Given the description of an element on the screen output the (x, y) to click on. 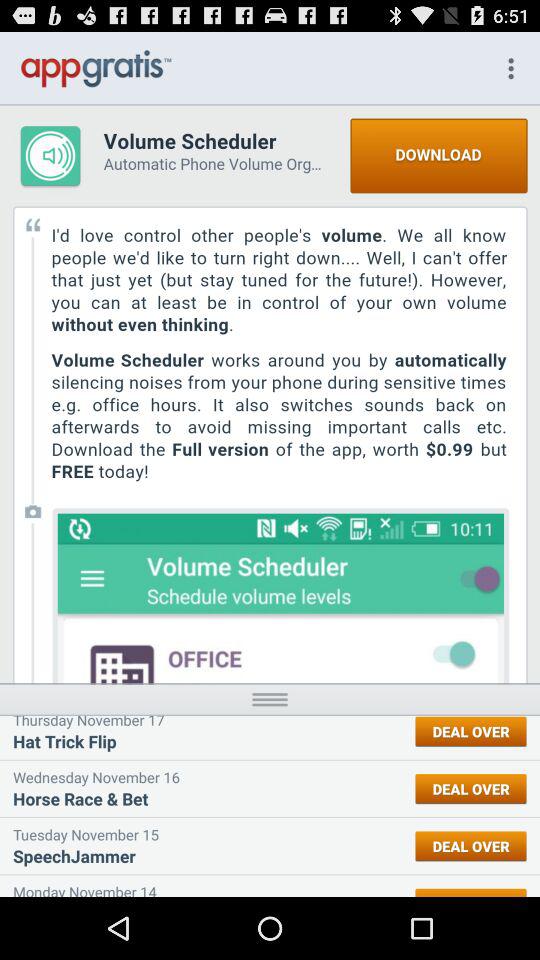
view more information (270, 698)
